Given the description of an element on the screen output the (x, y) to click on. 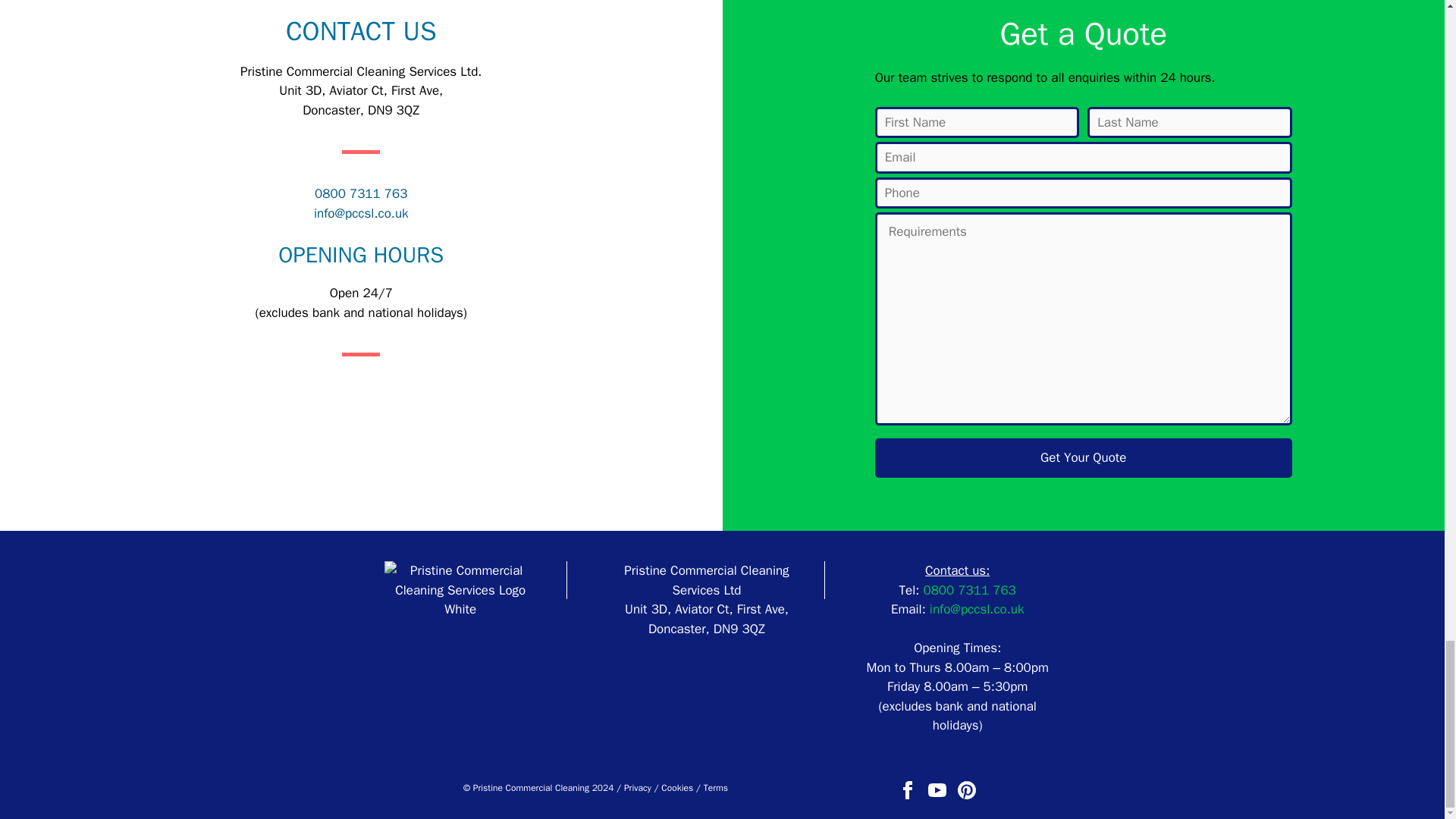
Get Your Quote (1083, 457)
